Given the description of an element on the screen output the (x, y) to click on. 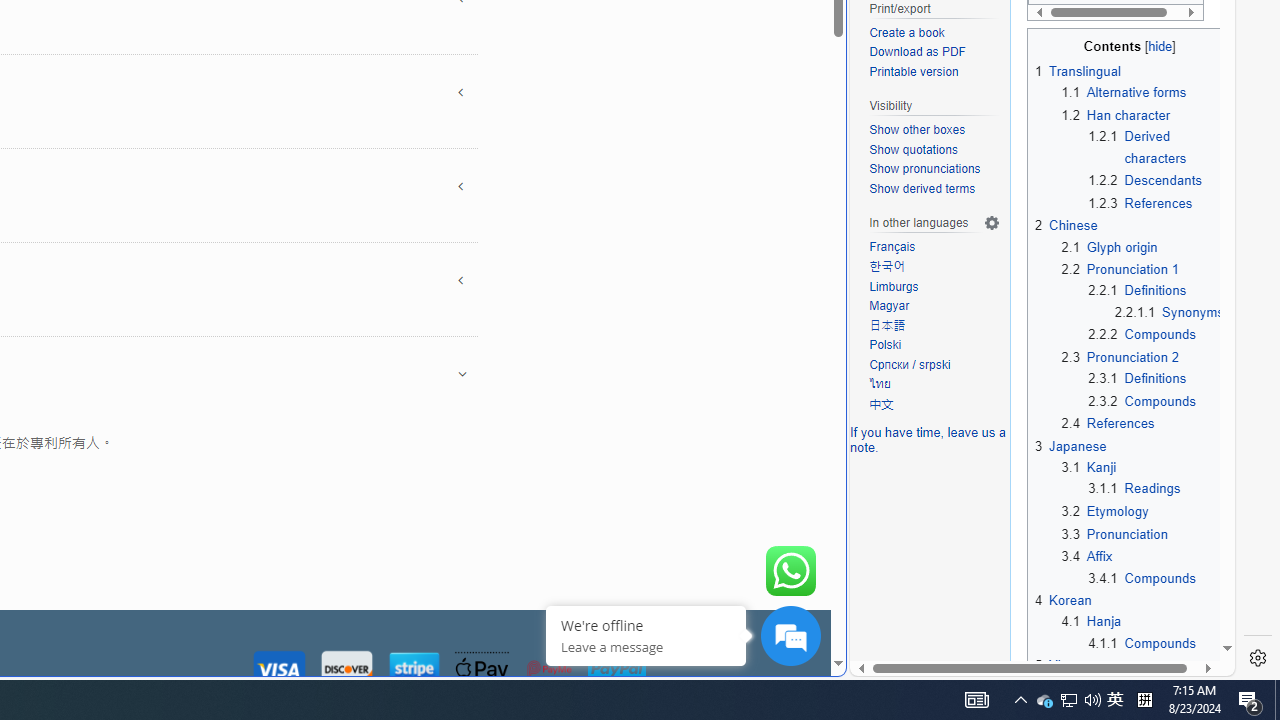
3.4Affix3.4.1Compounds (1142, 566)
2.2.1 Definitions (1137, 290)
Show pronunciations (934, 169)
2.4 References (1107, 423)
1.1Alternative forms (1142, 92)
2.2 Pronunciation 1 (1120, 269)
3.3Pronunciation (1142, 533)
5 Vietnamese (1077, 665)
4.1.1Compounds (1156, 642)
